Given the description of an element on the screen output the (x, y) to click on. 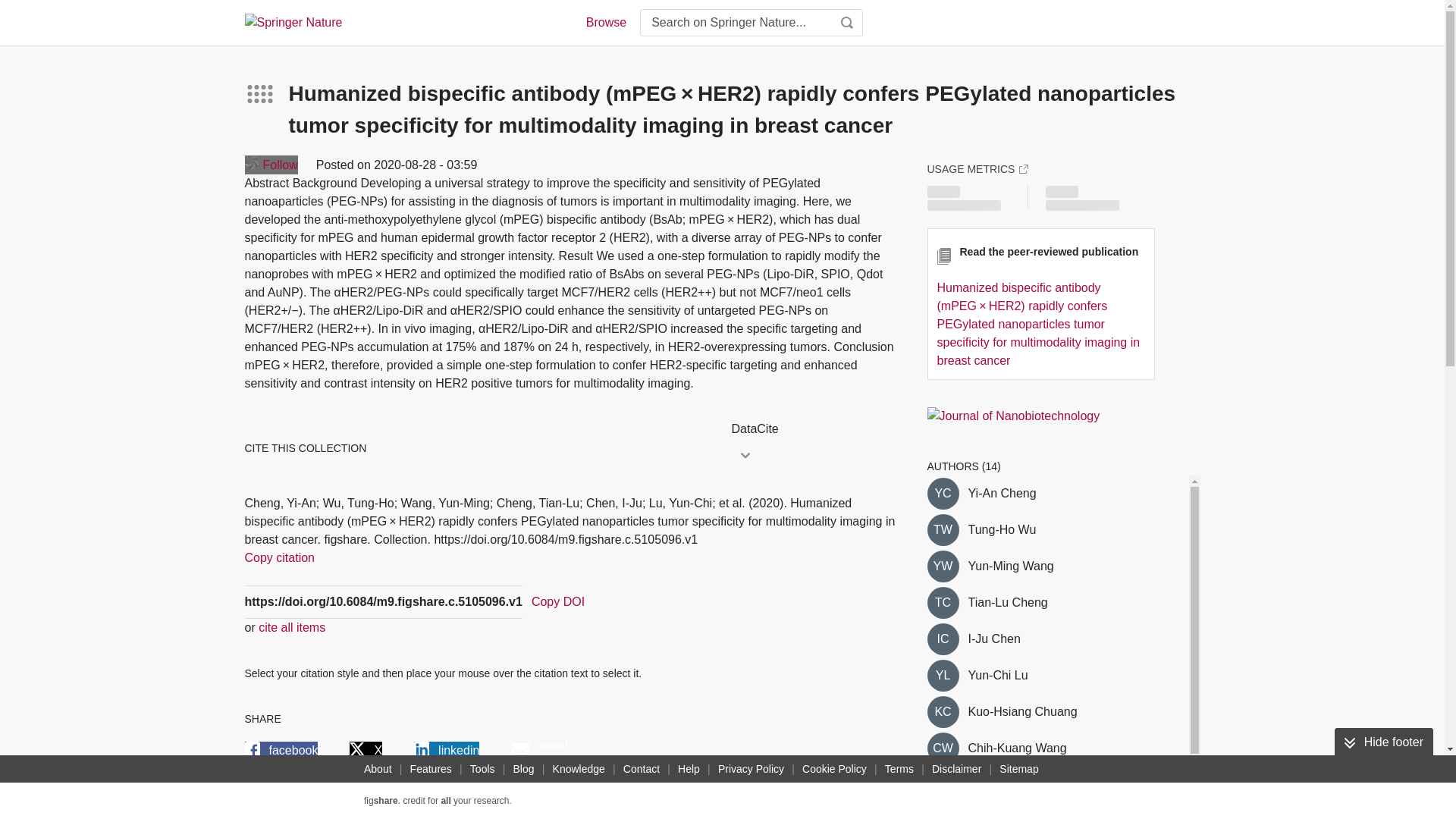
Copy DOI (558, 601)
Chih-Kuang Wang (1016, 748)
facebook (280, 751)
Tian-Lu Cheng (942, 603)
Yun-Chi Lu (997, 675)
Chih-Kuang Wang (942, 748)
email (539, 750)
Yi-An Cheng (942, 493)
USAGE METRICS (976, 168)
Yi-An Cheng (1001, 493)
